Given the description of an element on the screen output the (x, y) to click on. 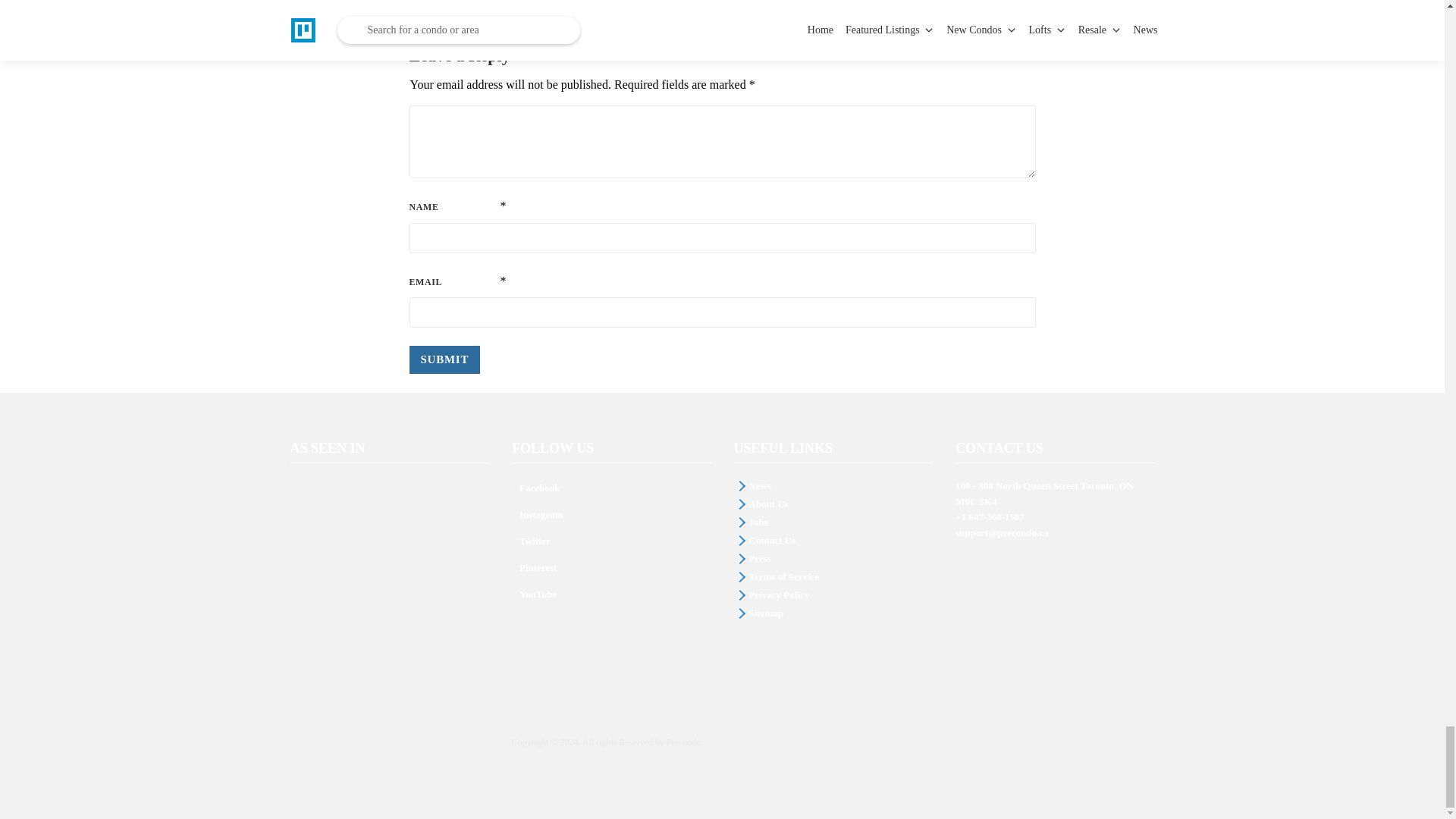
Submit (444, 359)
